Given the description of an element on the screen output the (x, y) to click on. 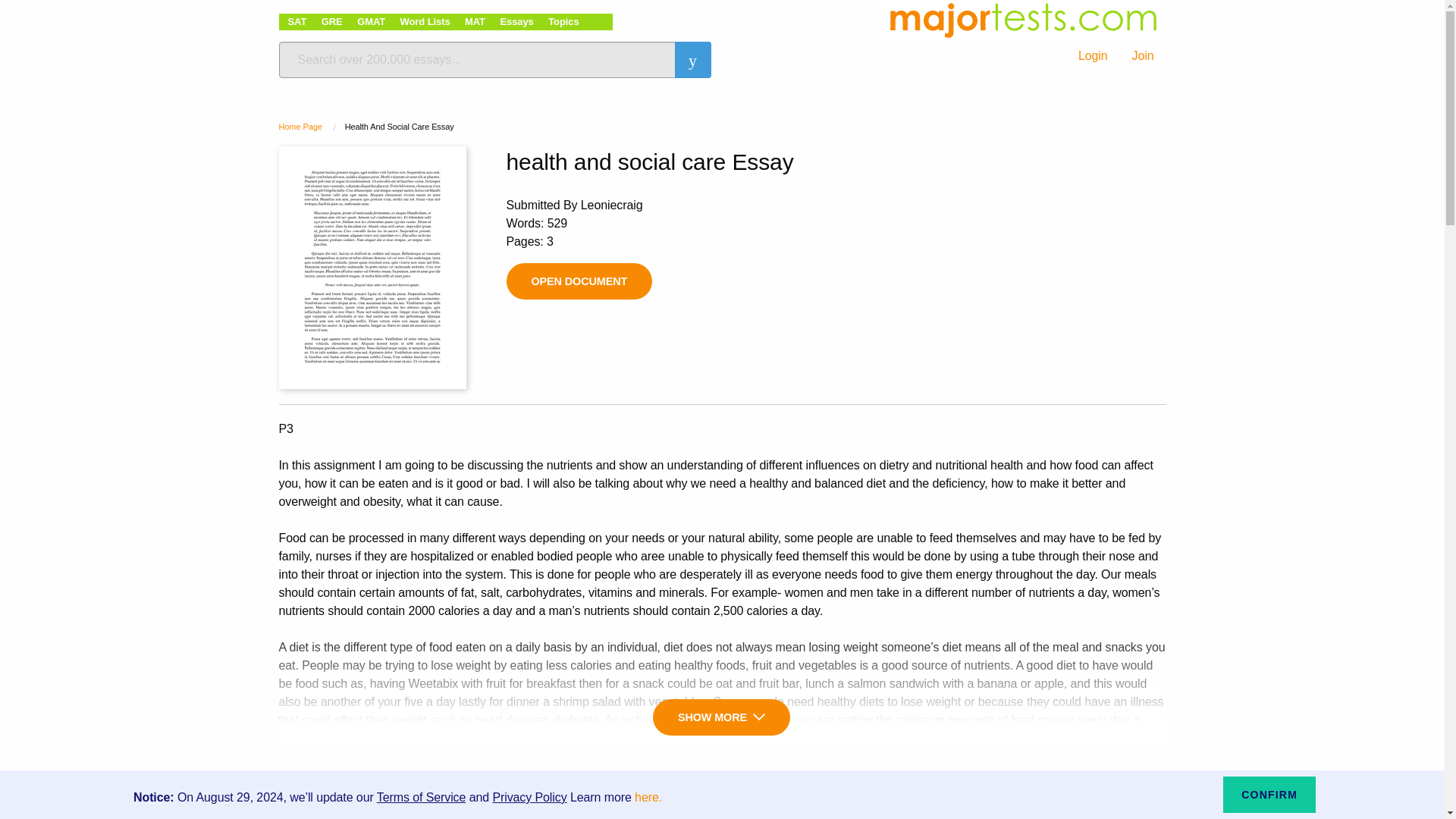
OPEN DOCUMENT (579, 280)
SHOW MORE (721, 717)
GMAT (370, 21)
SAT (297, 21)
Essays (515, 21)
Topics (563, 21)
Word Lists (424, 21)
MAT (474, 21)
GRE (331, 21)
Join (1142, 55)
Login (1092, 55)
Home Page (300, 126)
